Given the description of an element on the screen output the (x, y) to click on. 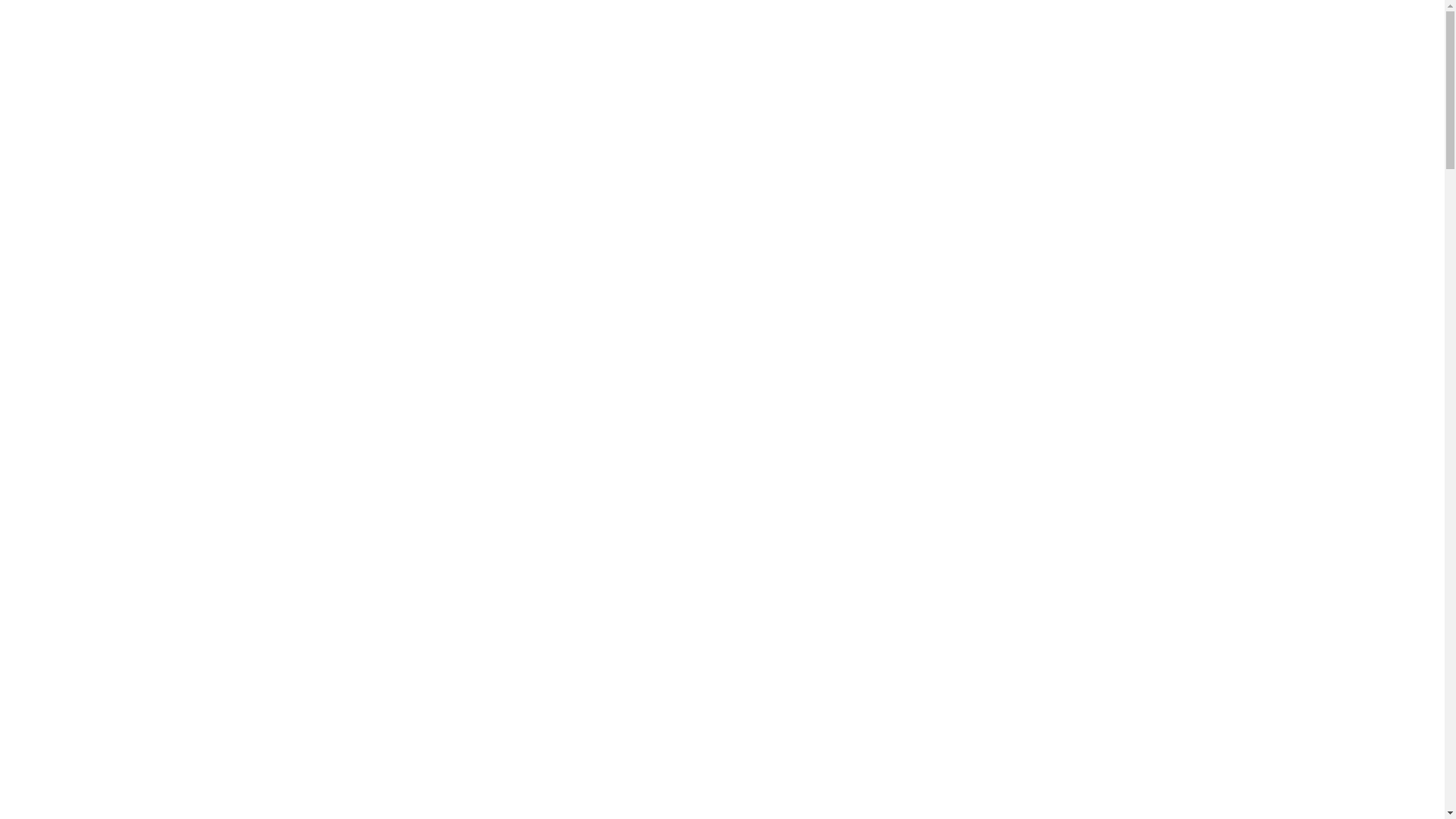
Rechercher un bien Element type: text (723, 25)
Trouver un agent Element type: text (1077, 25)
Accueil Element type: text (585, 25)
Contact Element type: text (797, 723)
Rejoignez-nous Element type: text (1237, 25)
Alerte E-mail Element type: text (1381, 25)
Gestion des cookies Element type: text (870, 765)
Nos honoraires Element type: text (723, 765)
Estimez votre bien Element type: text (905, 25)
